Given the description of an element on the screen output the (x, y) to click on. 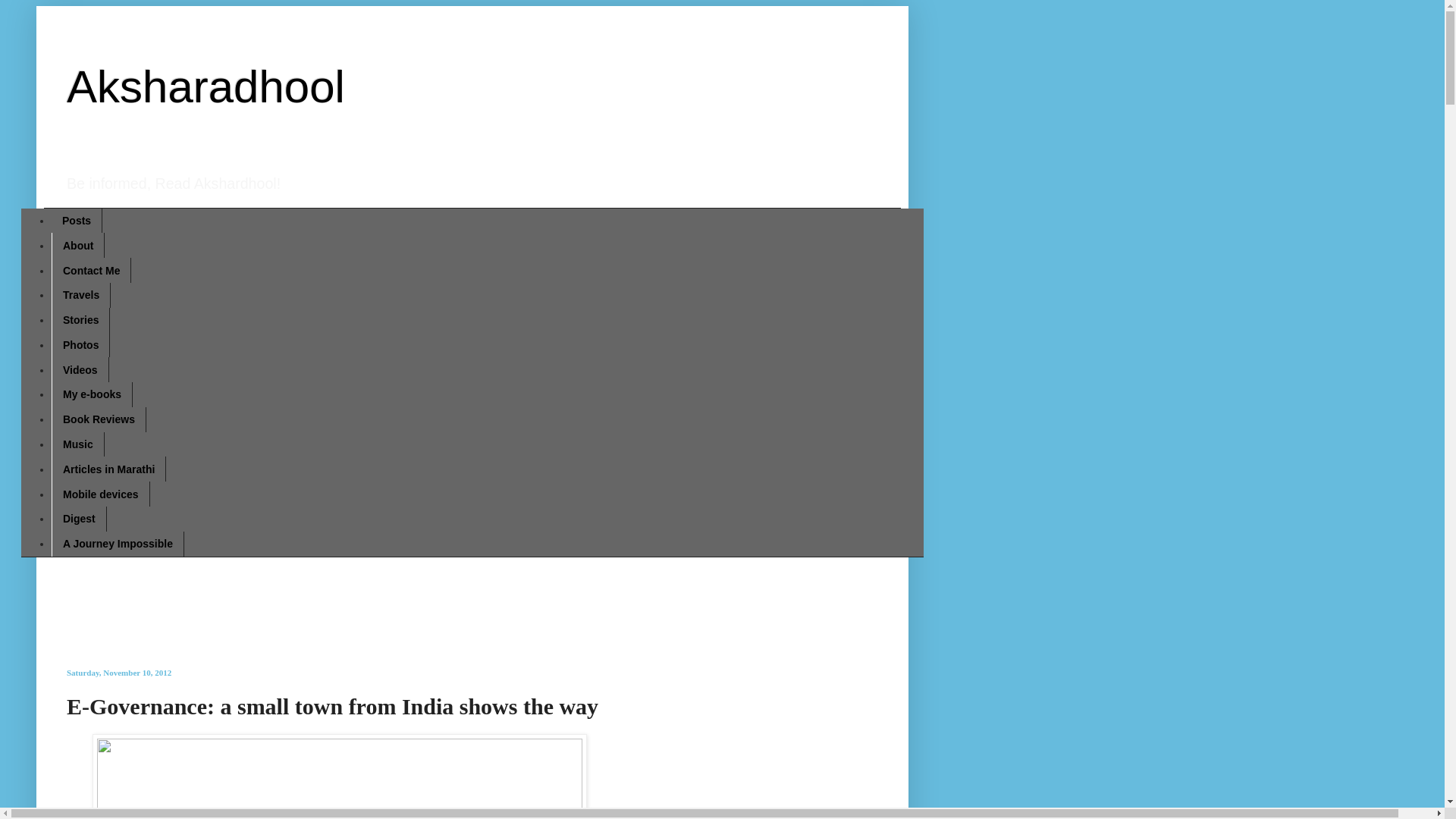
Advertisement (410, 601)
Stories (80, 319)
Digest (78, 518)
About (77, 244)
Videos (79, 369)
Aksharadhool (205, 86)
Photos (80, 344)
My e-books (91, 394)
Mobile devices (99, 493)
Book Reviews (98, 419)
Travels (80, 294)
A Journey Impossible (117, 543)
Posts (75, 220)
Music (77, 444)
Contact Me (90, 269)
